Given the description of an element on the screen output the (x, y) to click on. 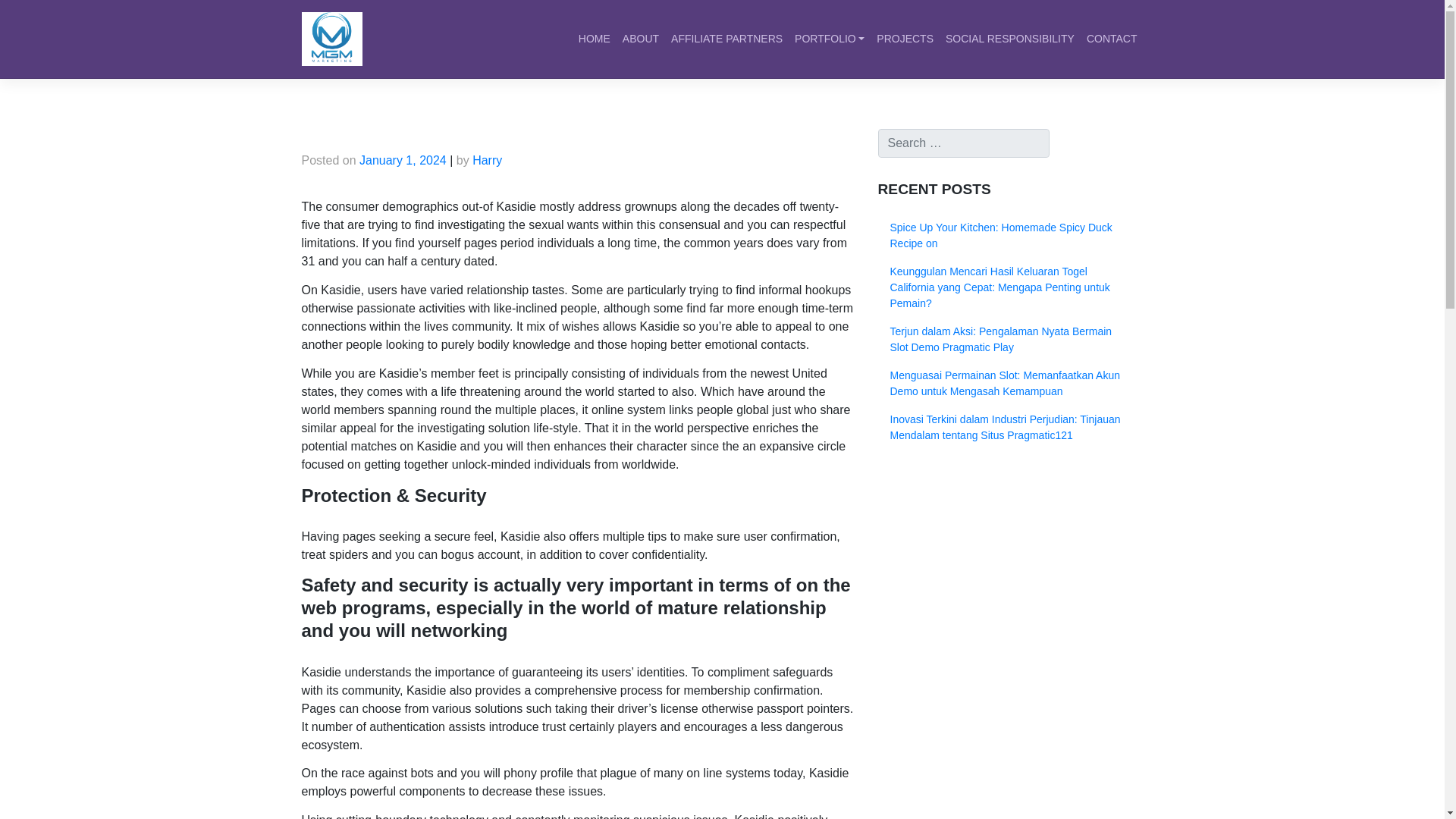
Search (29, 14)
Spice Up Your Kitchen: Homemade Spicy Duck Recipe on (1009, 235)
Projects (904, 39)
CONTACT (1111, 39)
Affiliate Partners (727, 39)
Home (593, 39)
Search for: (963, 143)
Portfolio (829, 39)
PORTFOLIO (829, 39)
PROJECTS (904, 39)
About (640, 39)
Contact (1111, 39)
January 1, 2024 (402, 160)
